Given the description of an element on the screen output the (x, y) to click on. 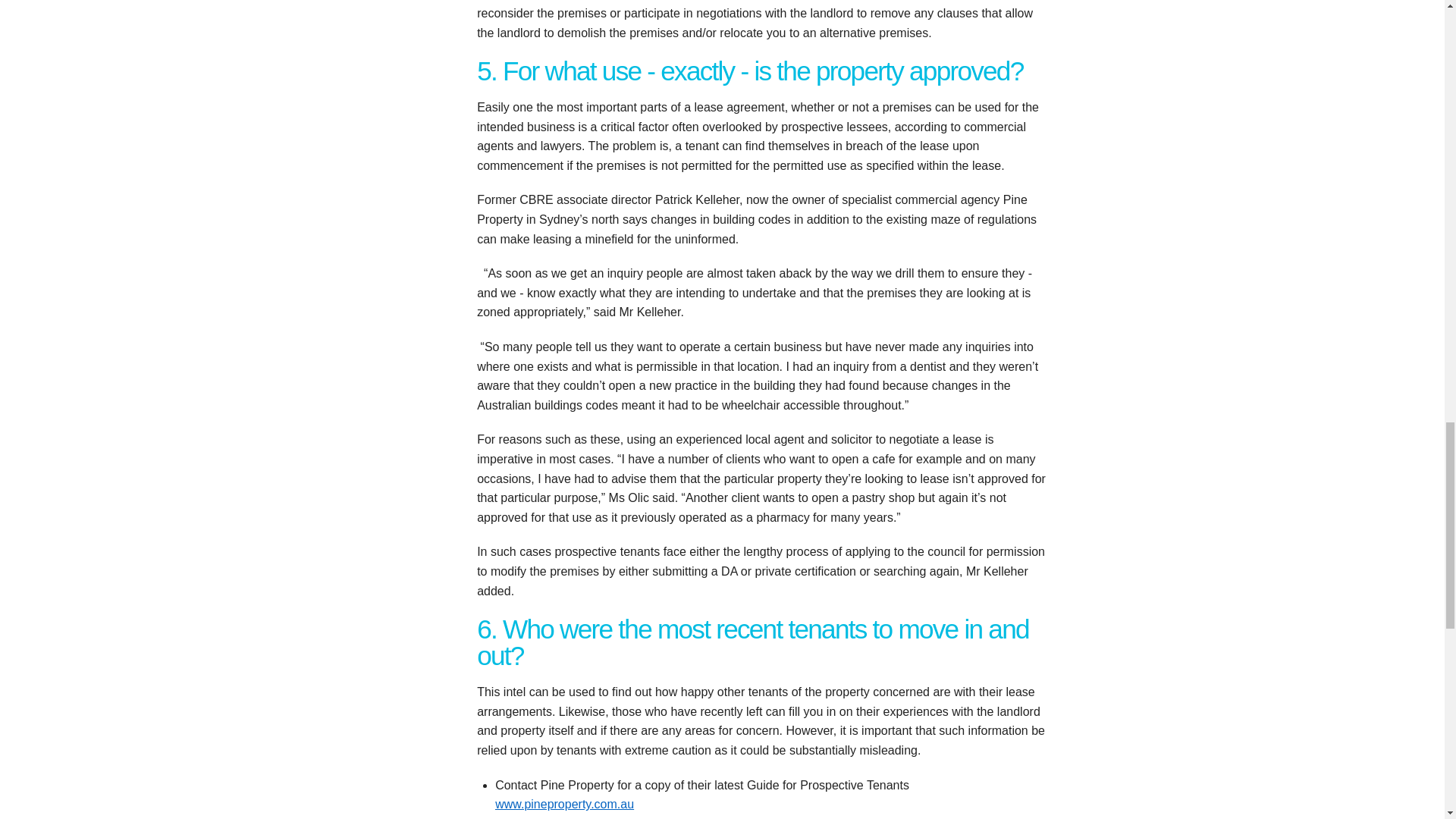
www.pineproperty.com.au (564, 803)
www.brydens.com.a (645, 818)
